Given the description of an element on the screen output the (x, y) to click on. 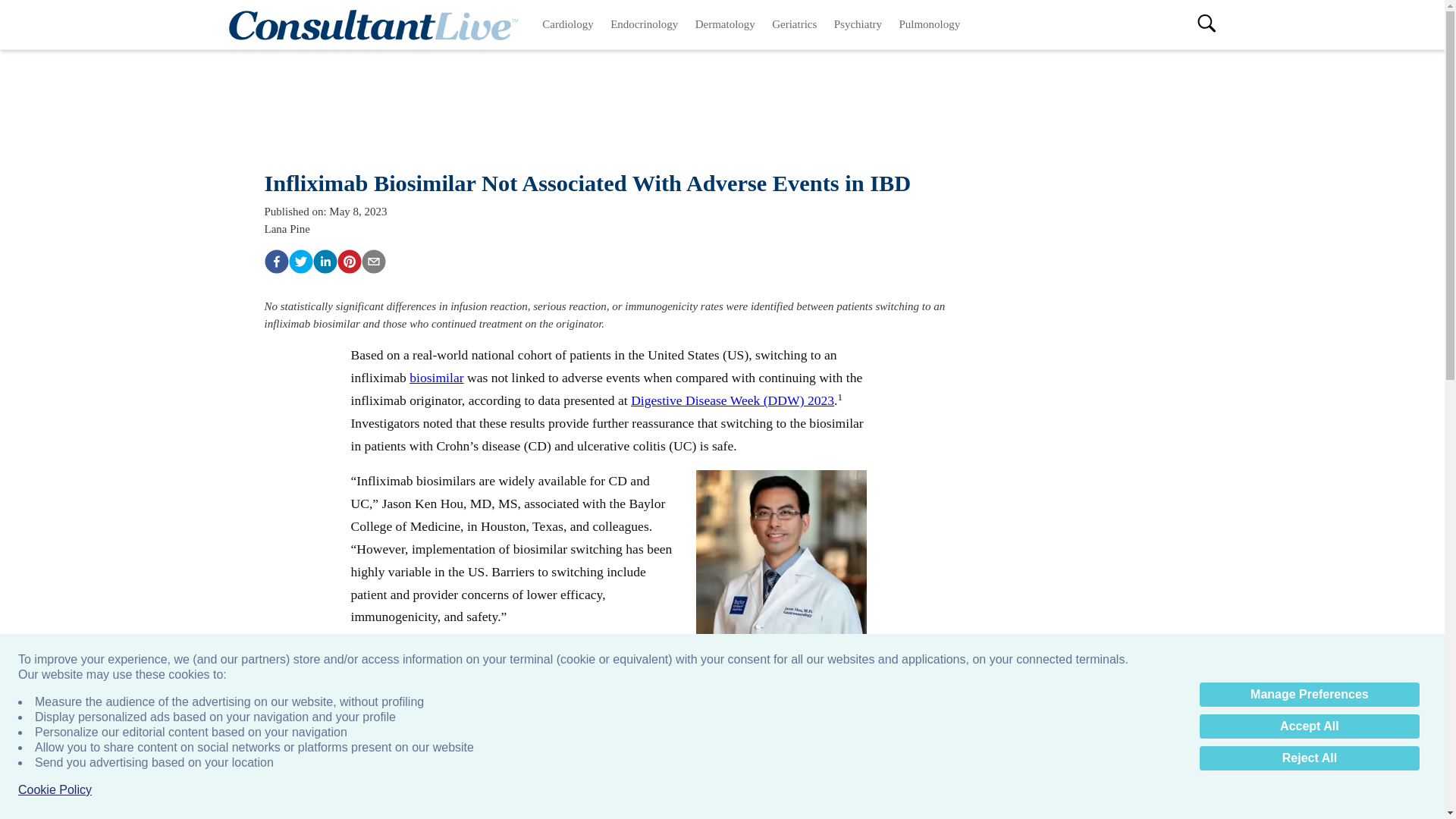
Endocrinology (644, 24)
Accept All (1309, 726)
Cookie Policy (54, 789)
Lana Pine (285, 228)
Pulmonology (928, 24)
Geriatrics (793, 24)
Cardiology (568, 24)
Reject All (1309, 758)
Dermatology (725, 24)
Psychiatry (858, 24)
